Given the description of an element on the screen output the (x, y) to click on. 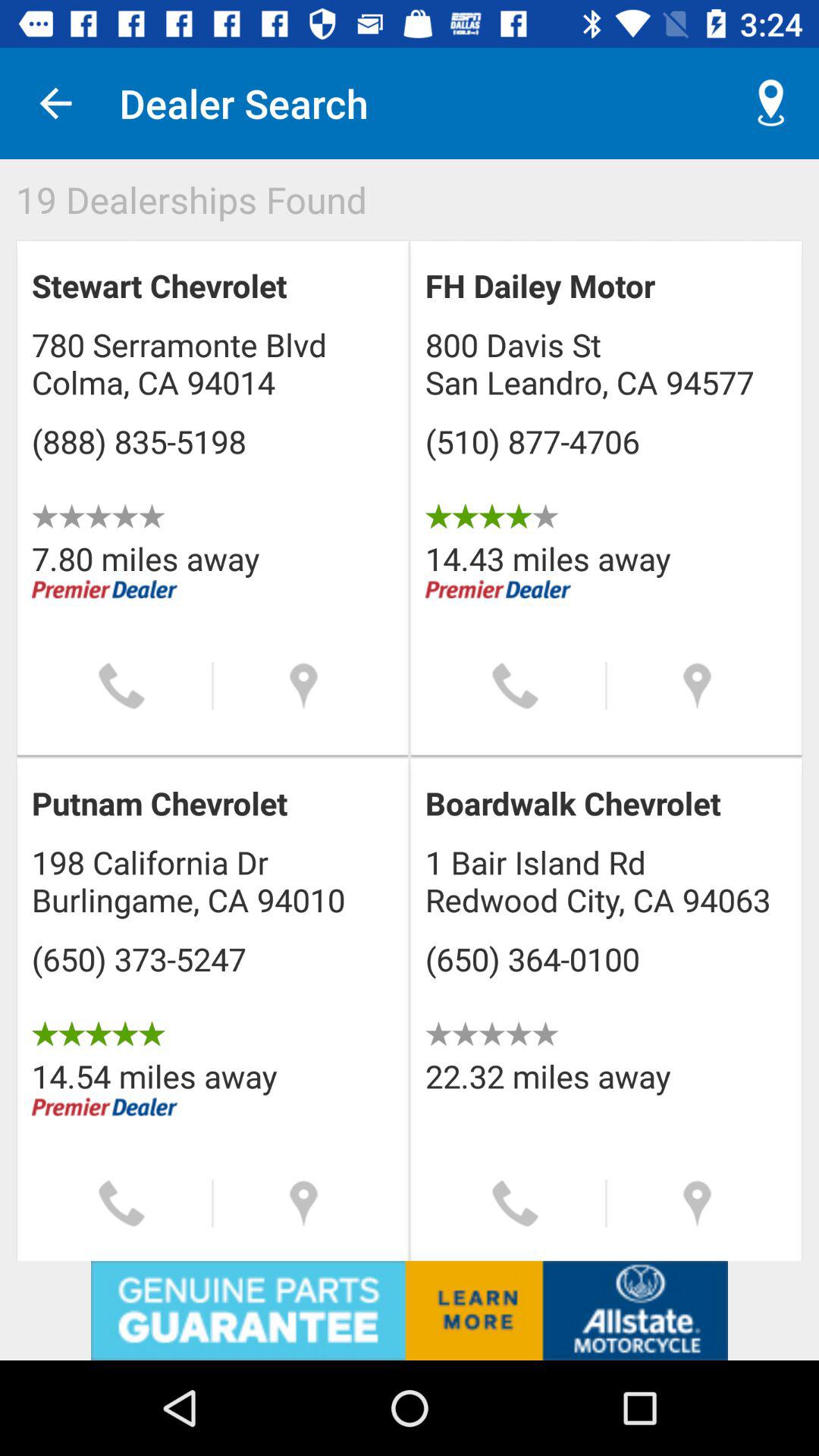
call place (121, 685)
